Given the description of an element on the screen output the (x, y) to click on. 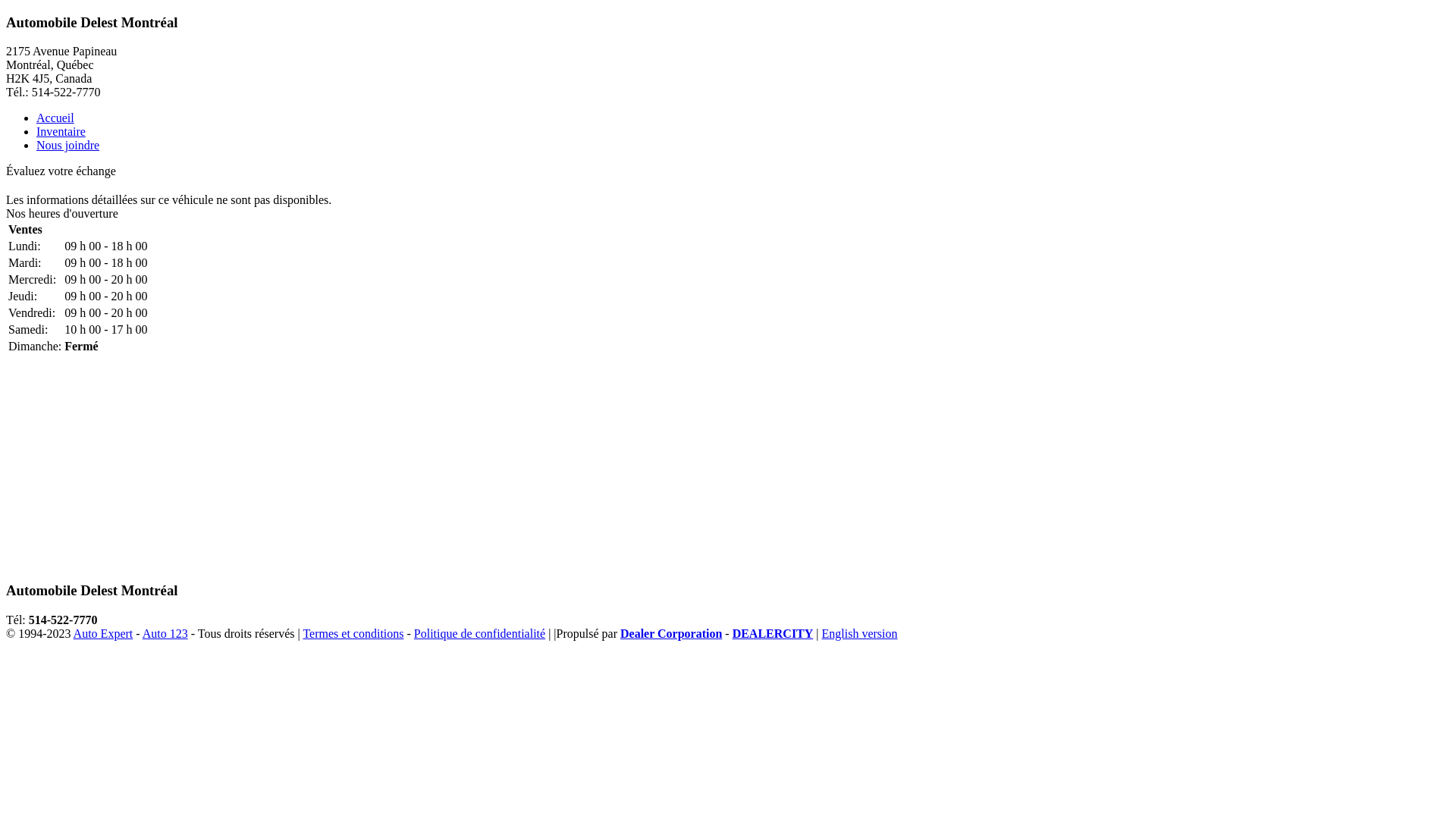
Inventaire Element type: text (60, 131)
Dealer Corporation Element type: text (670, 633)
Nous joindre Element type: text (67, 144)
Termes et conditions Element type: text (352, 633)
Auto 123 Element type: text (165, 633)
Auto Expert Element type: text (103, 633)
DEALERCITY Element type: text (772, 633)
Accueil Element type: text (55, 117)
English version Element type: text (859, 633)
